Given the description of an element on the screen output the (x, y) to click on. 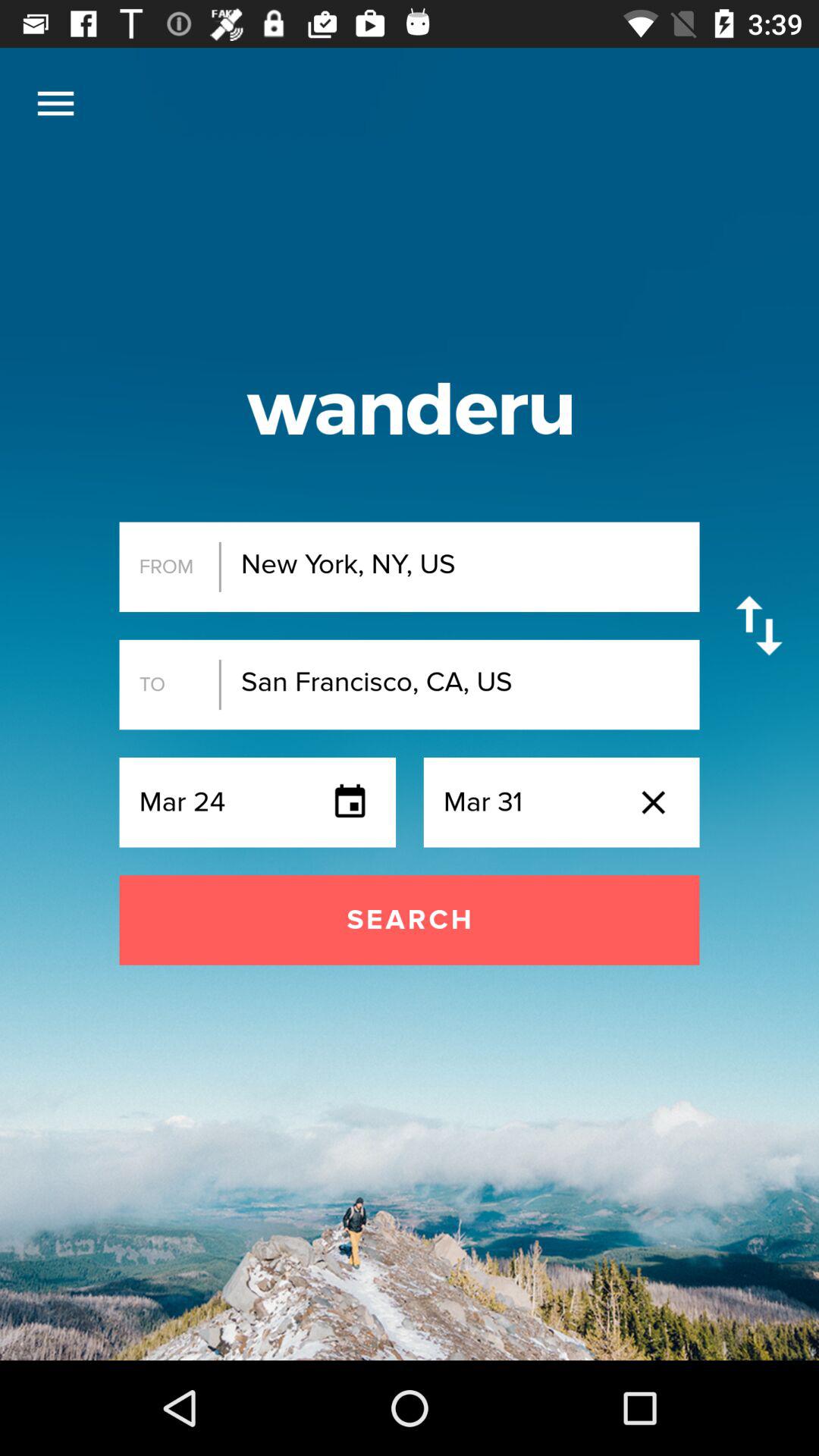
menu options (55, 103)
